Given the description of an element on the screen output the (x, y) to click on. 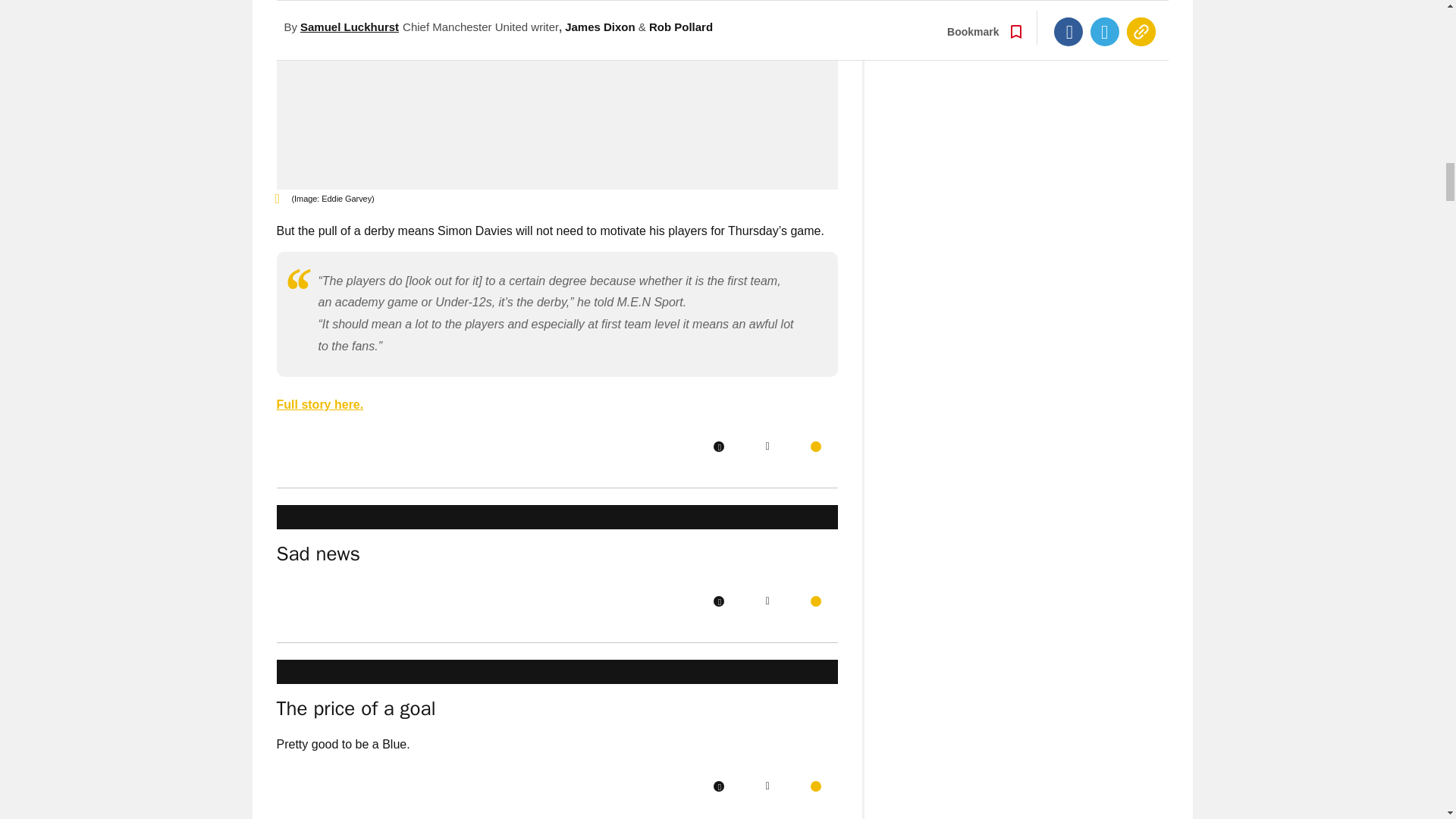
Facebook (718, 446)
Twitter (767, 446)
Facebook (718, 601)
